Given the description of an element on the screen output the (x, y) to click on. 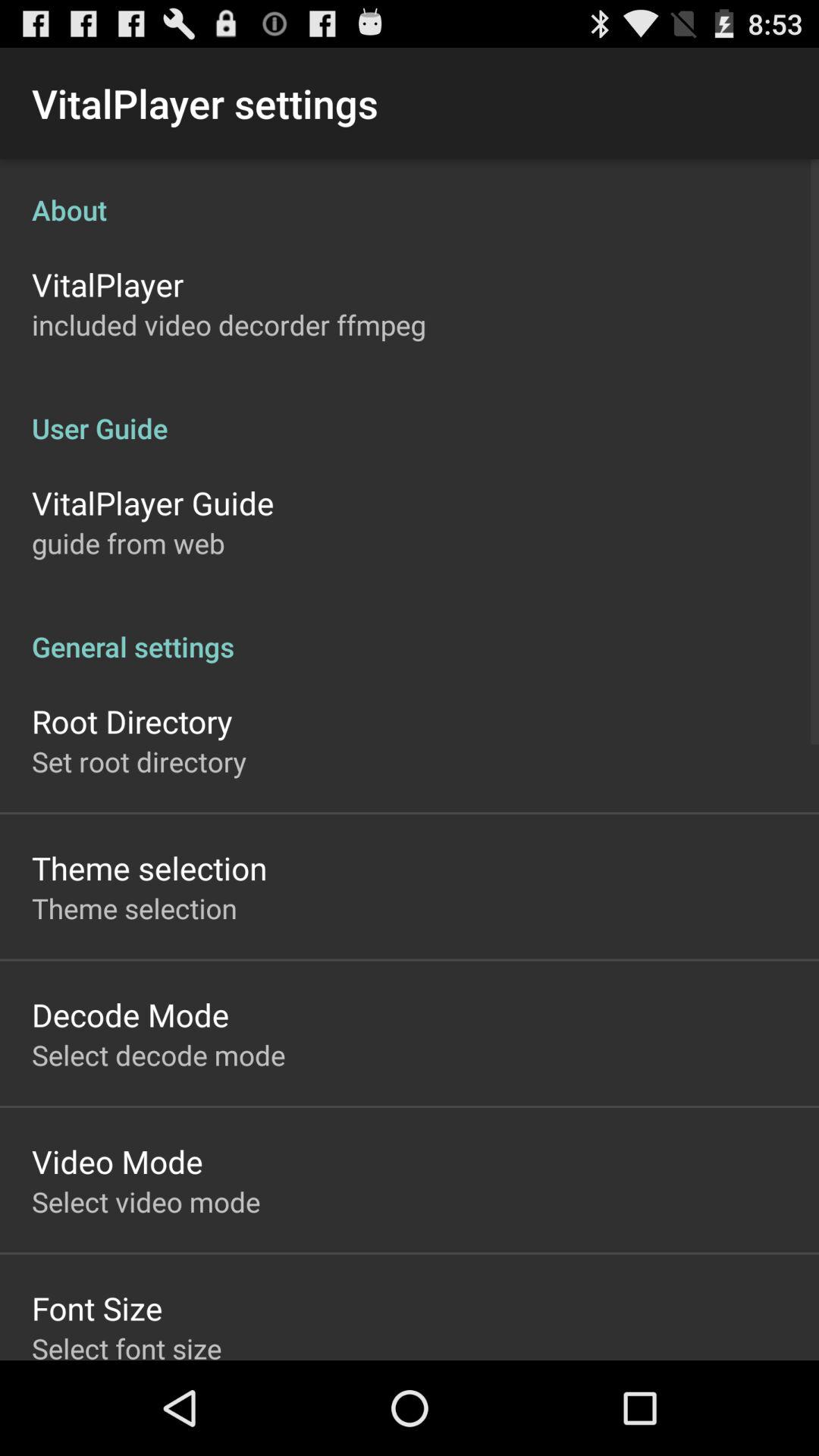
launch the app below the guide from web app (409, 630)
